Given the description of an element on the screen output the (x, y) to click on. 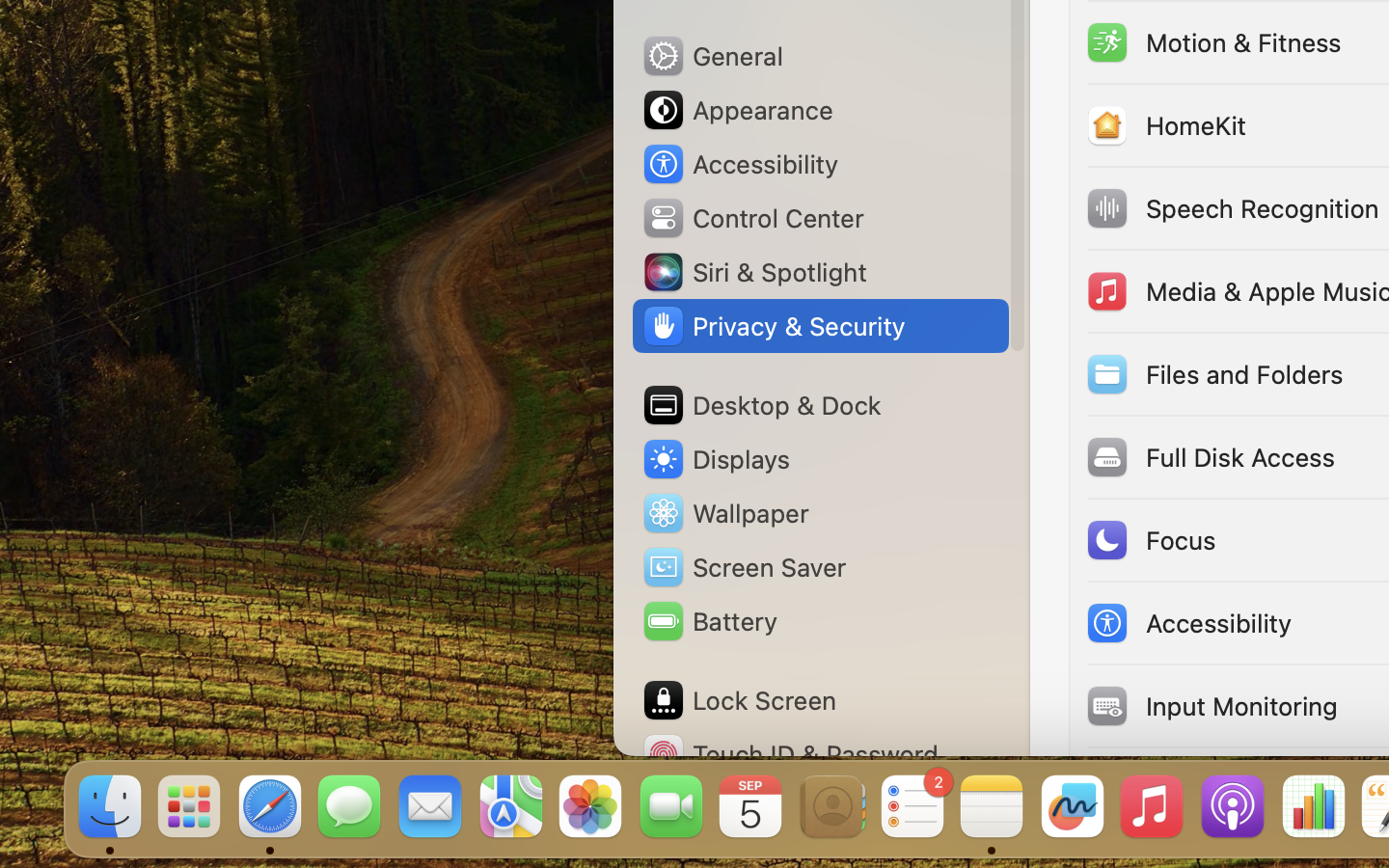
Appearance Element type: AXStaticText (736, 109)
Screen Saver Element type: AXStaticText (743, 566)
Privacy & Security Element type: AXStaticText (772, 325)
Control Center Element type: AXStaticText (752, 217)
Displays Element type: AXStaticText (715, 458)
